Given the description of an element on the screen output the (x, y) to click on. 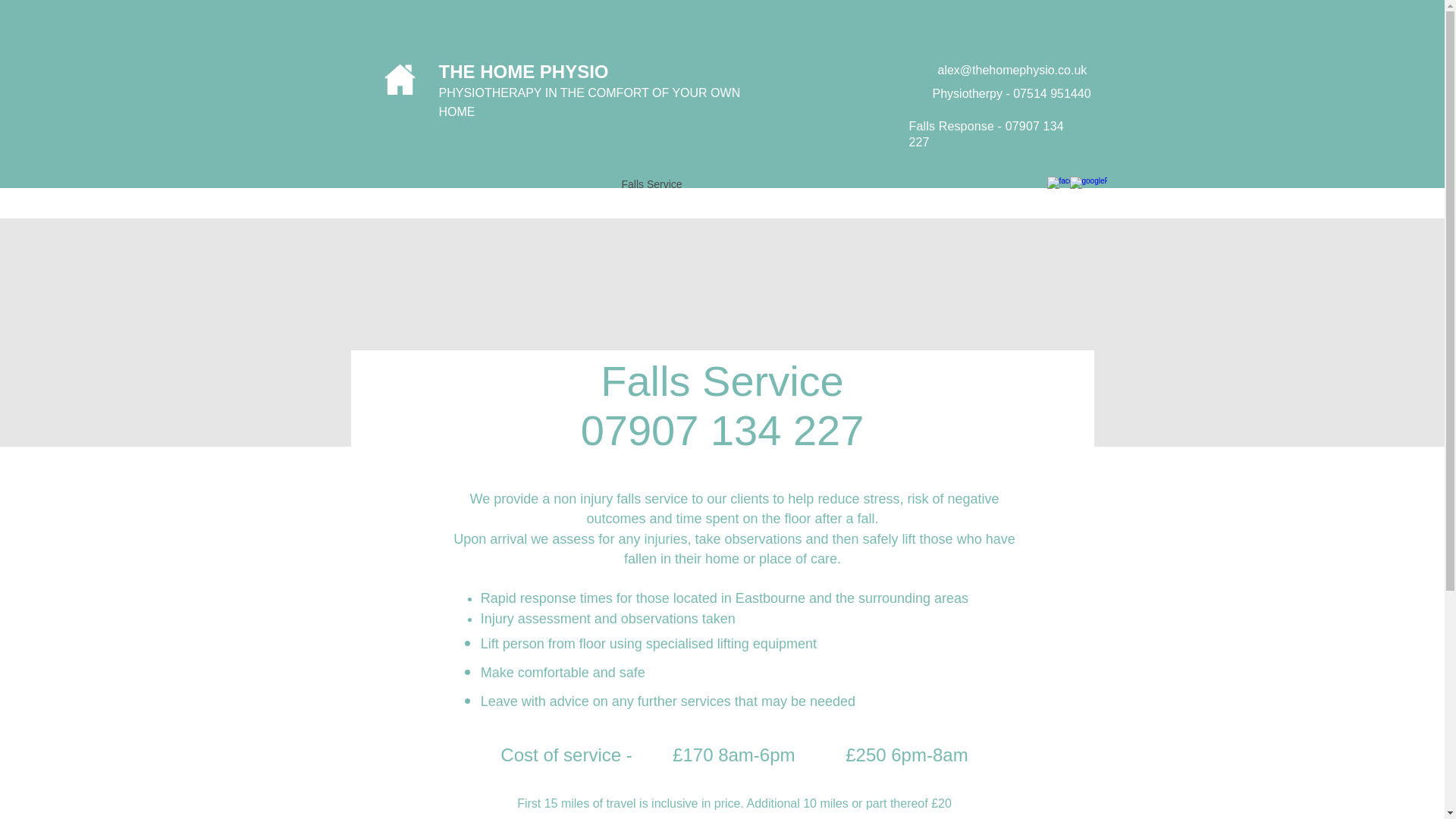
Contact (722, 183)
About Me (444, 183)
Falls Service (651, 183)
Services (511, 183)
Price List (576, 183)
